Given the description of an element on the screen output the (x, y) to click on. 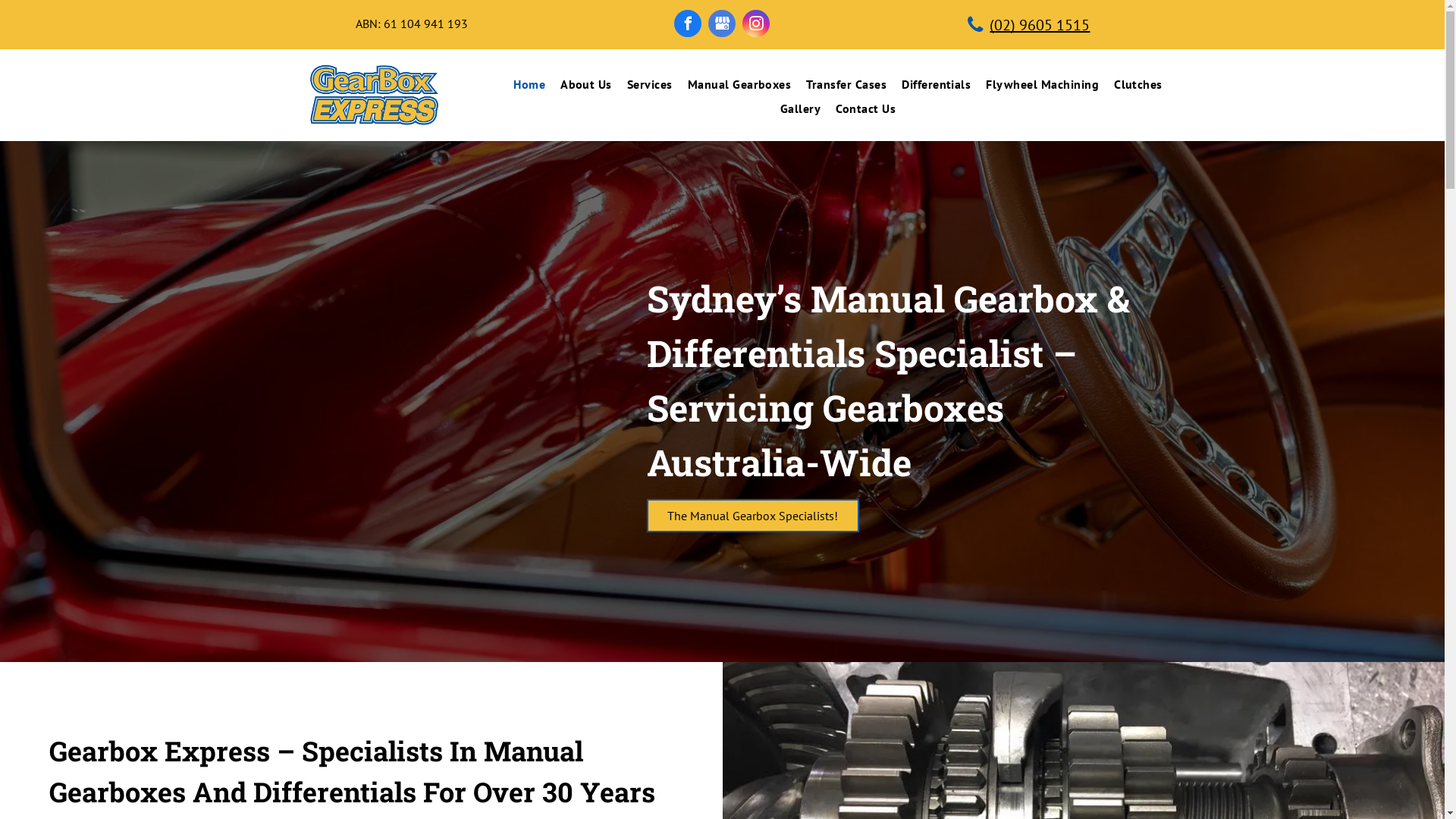
Transfer Cases Element type: text (846, 84)
Home Element type: text (528, 84)
About Us Element type: text (585, 84)
Contact Us Element type: text (865, 108)
Gearbox Express Element type: hover (373, 94)
(02) 9605 1515 Element type: text (1031, 24)
Gallery Element type: text (800, 108)
Clutches Element type: text (1138, 84)
Differentials Element type: text (936, 84)
Manual Gearboxes Element type: text (739, 84)
The Manual Gearbox Specialists! Element type: text (752, 515)
Flywheel Machining Element type: text (1042, 84)
Services Element type: text (649, 84)
